Given the description of an element on the screen output the (x, y) to click on. 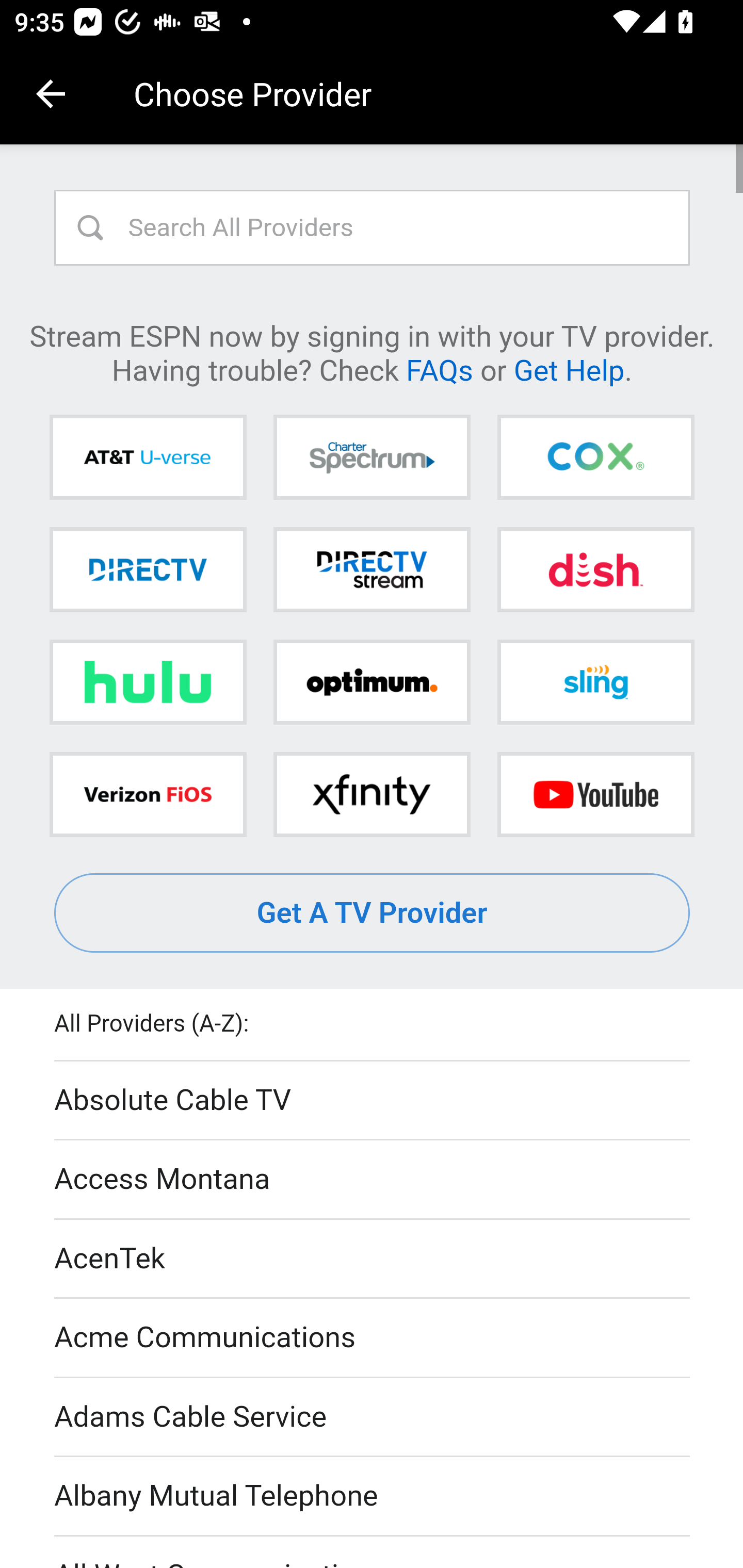
Navigate up (50, 93)
FAQs (438, 369)
Get Help (569, 369)
AT&T U-verse (147, 457)
Charter Spectrum (371, 457)
Cox (595, 457)
DIRECTV (147, 568)
DIRECTV STREAM (371, 568)
DISH (595, 568)
Hulu (147, 681)
Optimum (371, 681)
Sling TV (595, 681)
Verizon FiOS (147, 793)
Xfinity (371, 793)
YouTube TV (595, 793)
Get A TV Provider (372, 912)
Absolute Cable TV (372, 1100)
Access Montana (372, 1178)
AcenTek (372, 1258)
Acme Communications (372, 1338)
Adams Cable Service (372, 1417)
Albany Mutual Telephone (372, 1497)
